Given the description of an element on the screen output the (x, y) to click on. 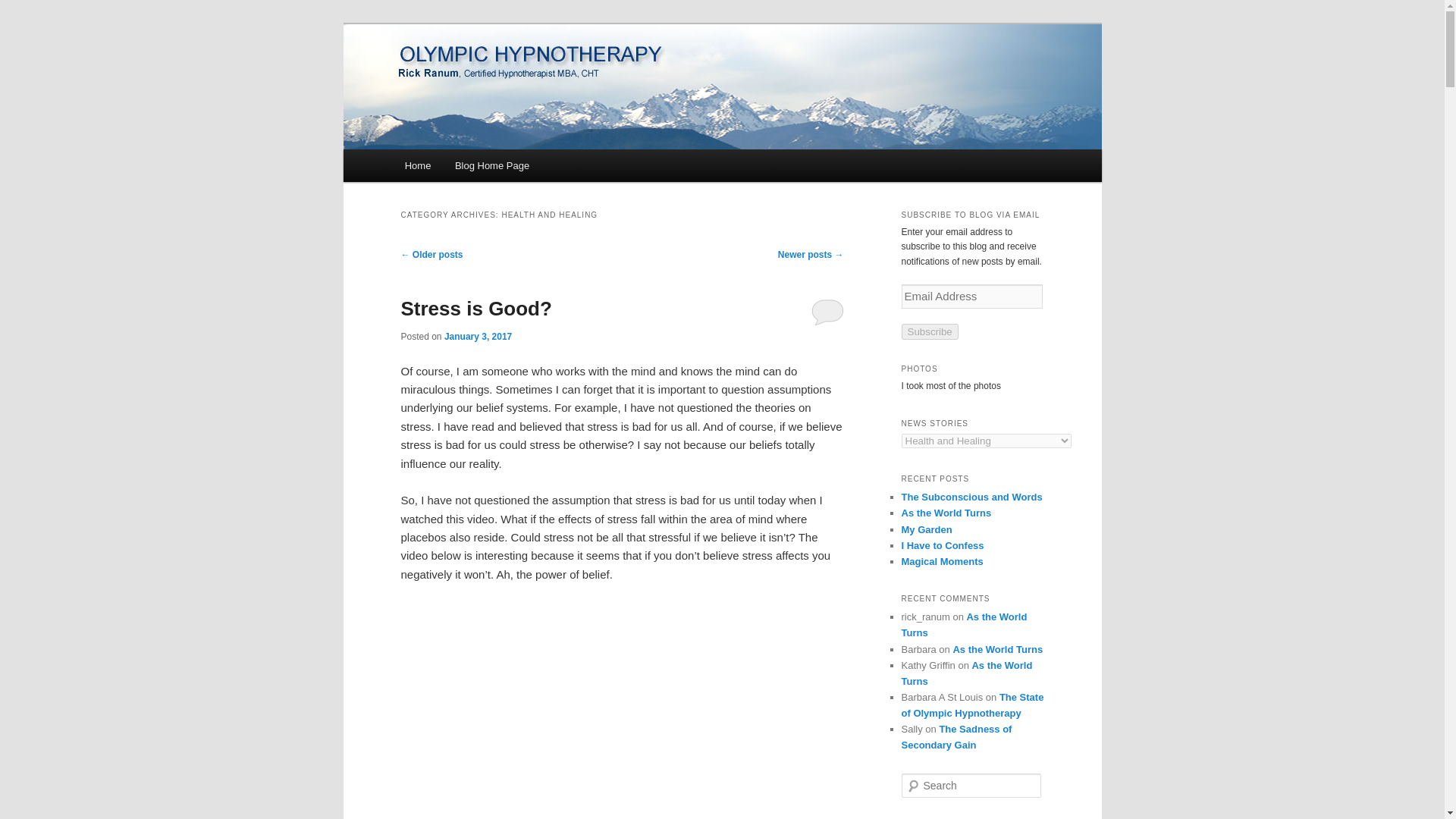
Blog Home Page (491, 165)
Home (417, 165)
Stress is Good? (475, 308)
January 3, 2017 (478, 336)
9:15 pm (478, 336)
